Given the description of an element on the screen output the (x, y) to click on. 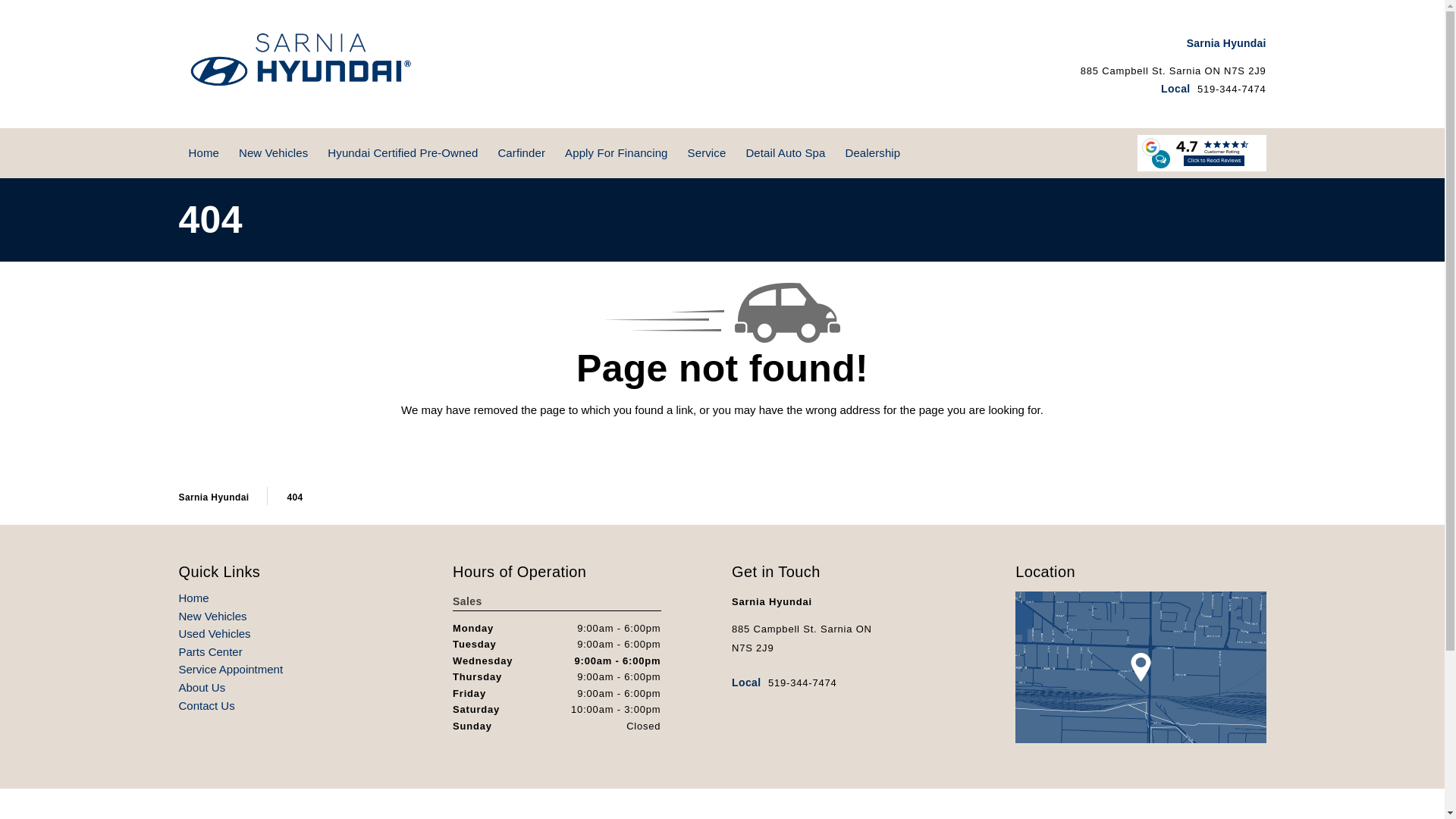
Used Vehicles (214, 634)
New Vehicles (272, 152)
Detail Auto Spa (784, 152)
Apply For Financing (616, 152)
885 Campbell St. Sarnia ON N7S 2J9 (1173, 70)
Hyundai Certified Pre-Owned (402, 152)
Home (203, 152)
Parts Center (211, 652)
New Vehicles (213, 616)
Go to Sarnia Hyundai. (213, 497)
